Given the description of an element on the screen output the (x, y) to click on. 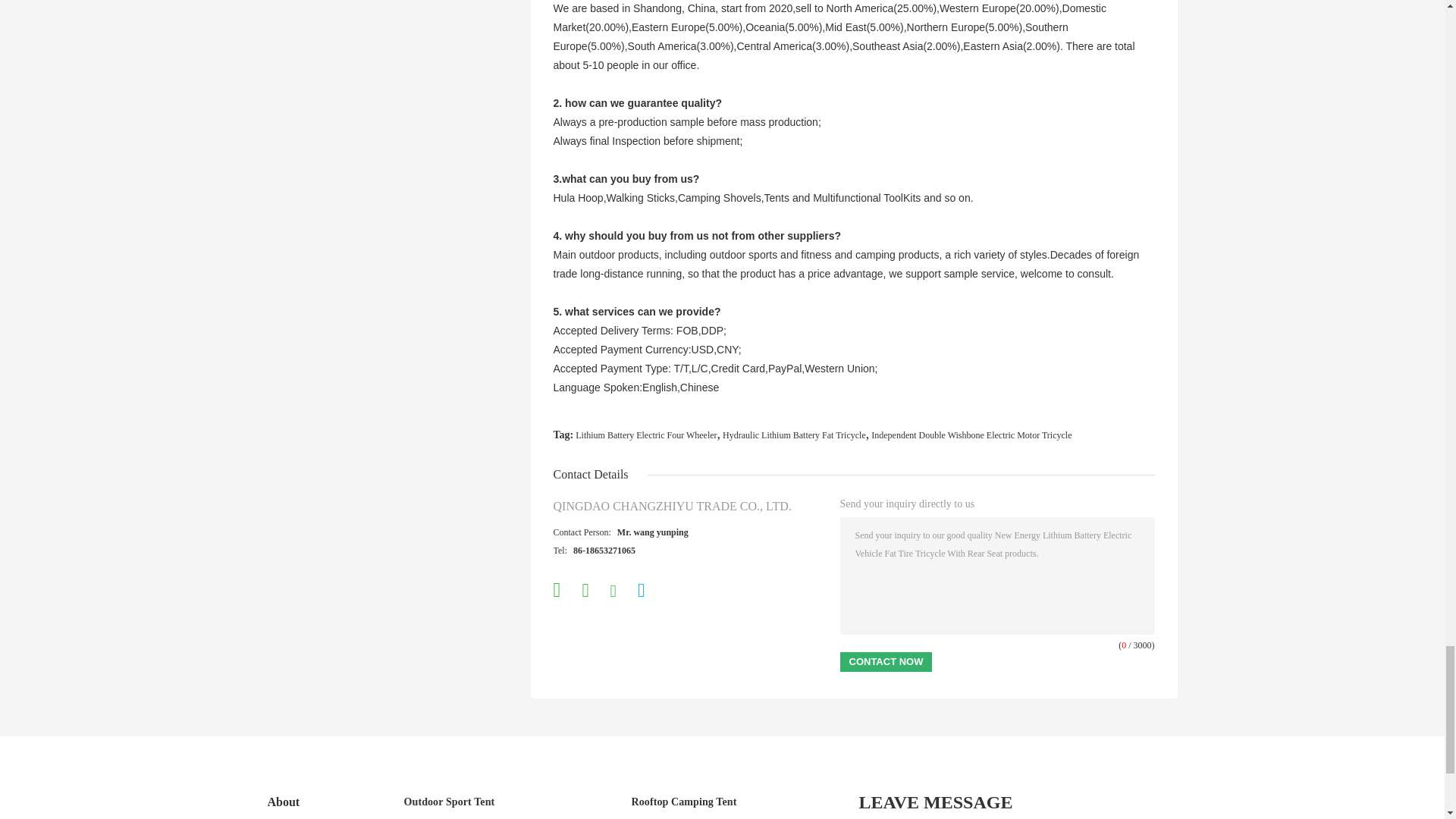
Contact Now (886, 661)
